Given the description of an element on the screen output the (x, y) to click on. 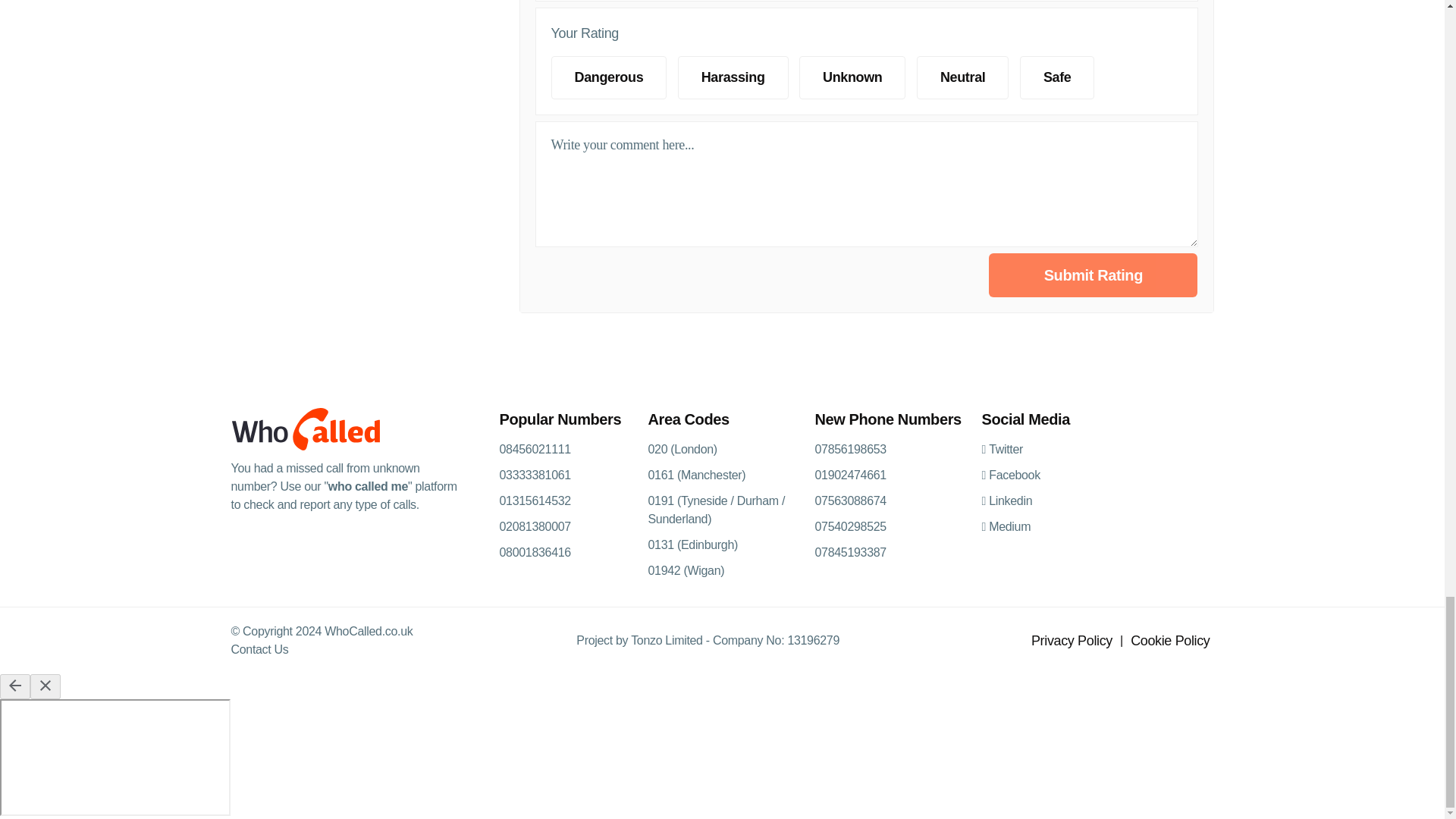
2 (896, 103)
1 (896, 61)
3 (896, 103)
5 (896, 103)
4 (896, 103)
Submit Rating (1092, 275)
